Given the description of an element on the screen output the (x, y) to click on. 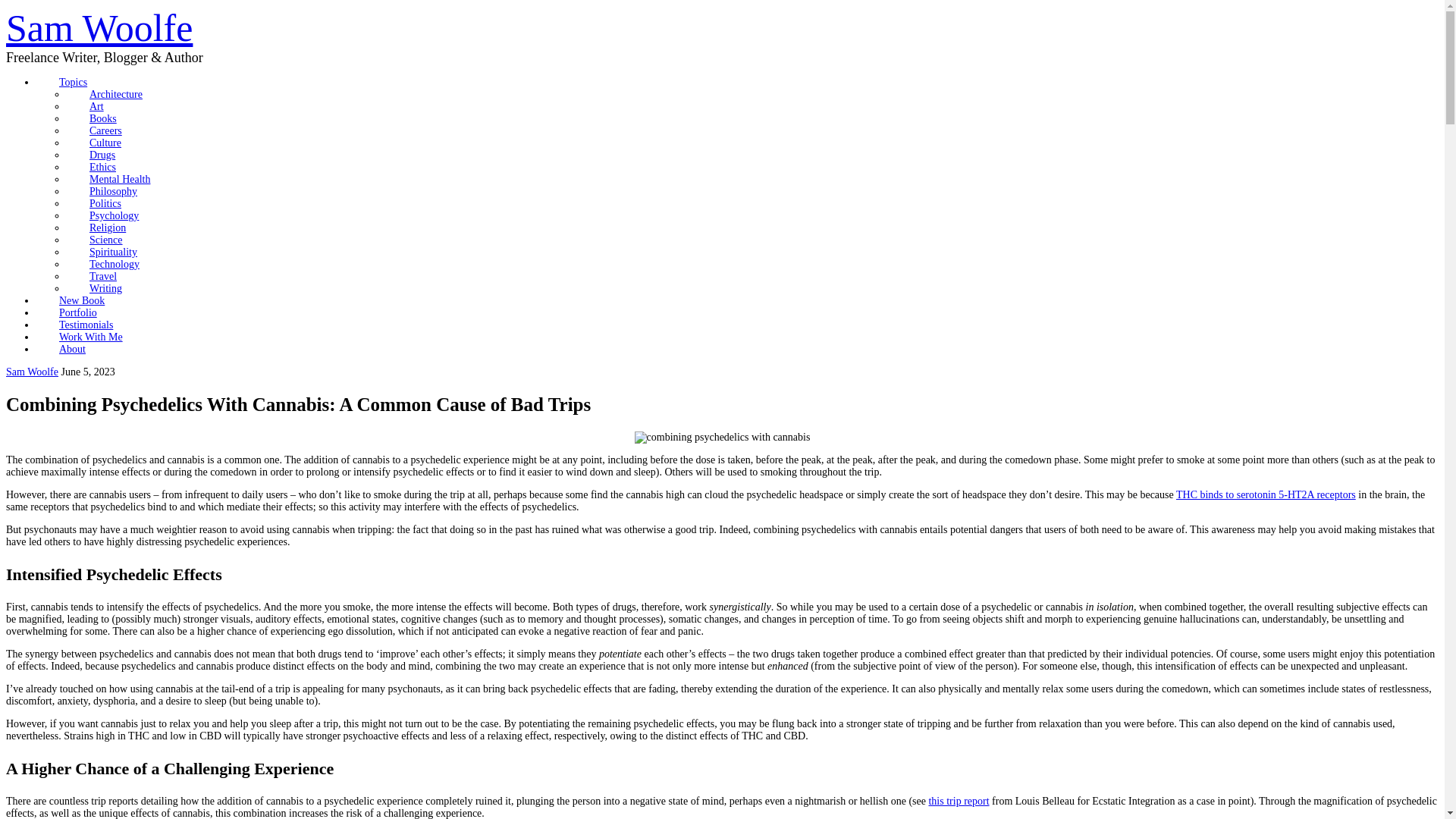
Writing (105, 288)
Testimonials (85, 324)
Culture (105, 142)
Work With Me (90, 337)
Books (102, 118)
Spirituality (113, 251)
About (71, 348)
Mental Health (119, 179)
Technology (113, 264)
Art (96, 106)
